Given the description of an element on the screen output the (x, y) to click on. 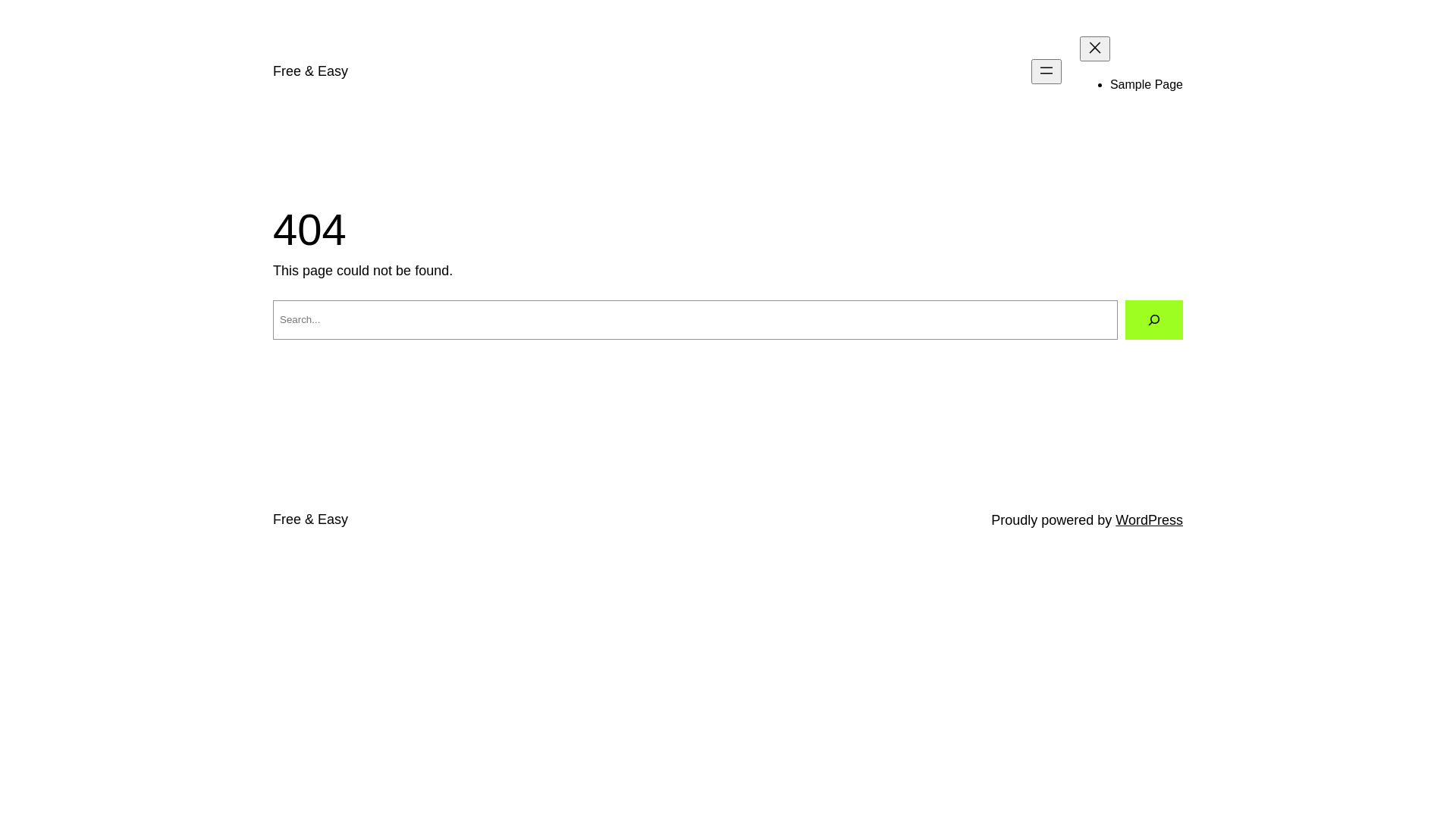
Sample Page Element type: text (1146, 84)
Free & Easy Element type: text (310, 519)
WordPress Element type: text (1149, 519)
Free & Easy Element type: text (310, 70)
